Given the description of an element on the screen output the (x, y) to click on. 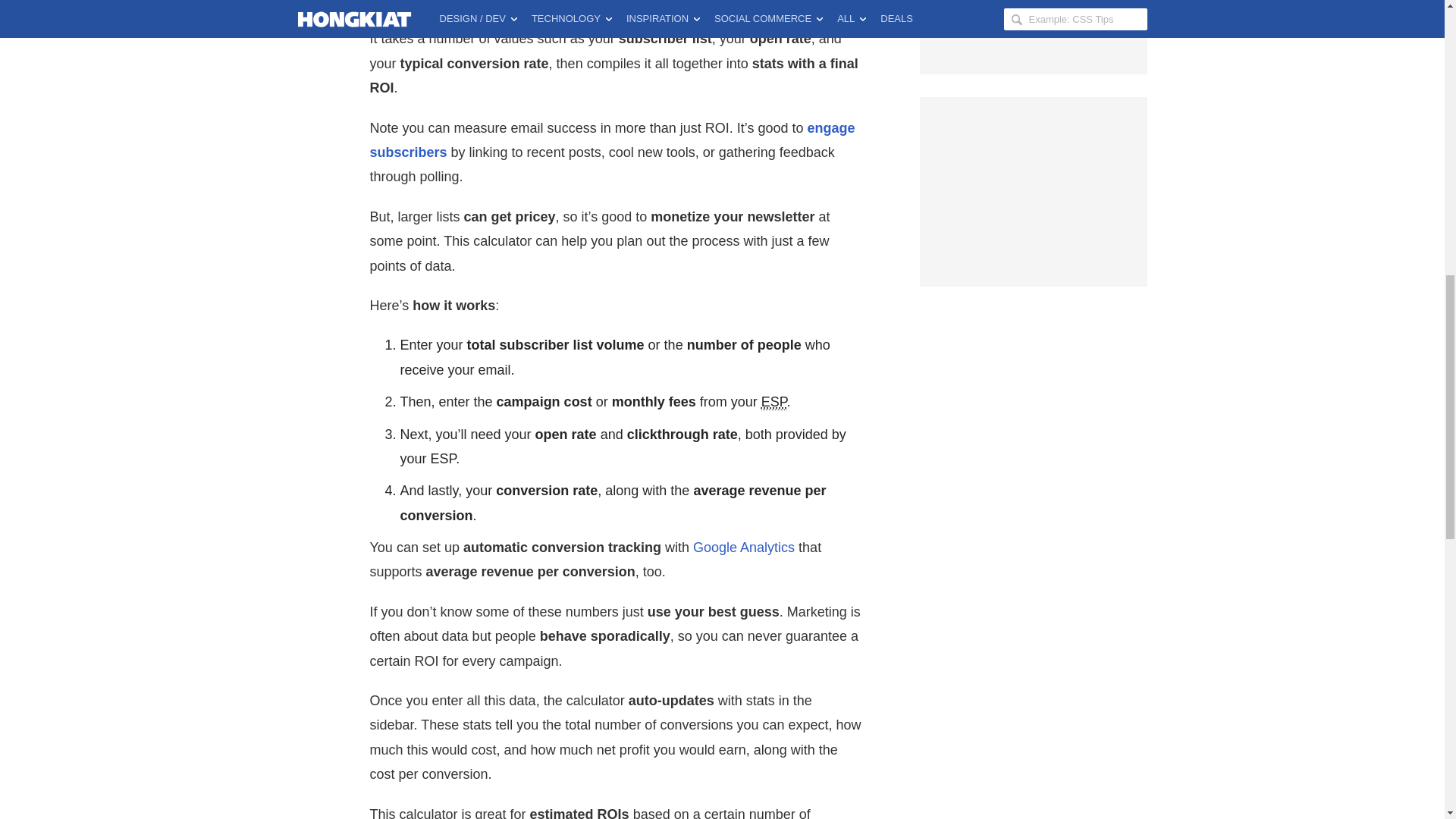
engage subscribers (612, 139)
Email Service Provider (774, 401)
Google Analytics (743, 547)
